Given the description of an element on the screen output the (x, y) to click on. 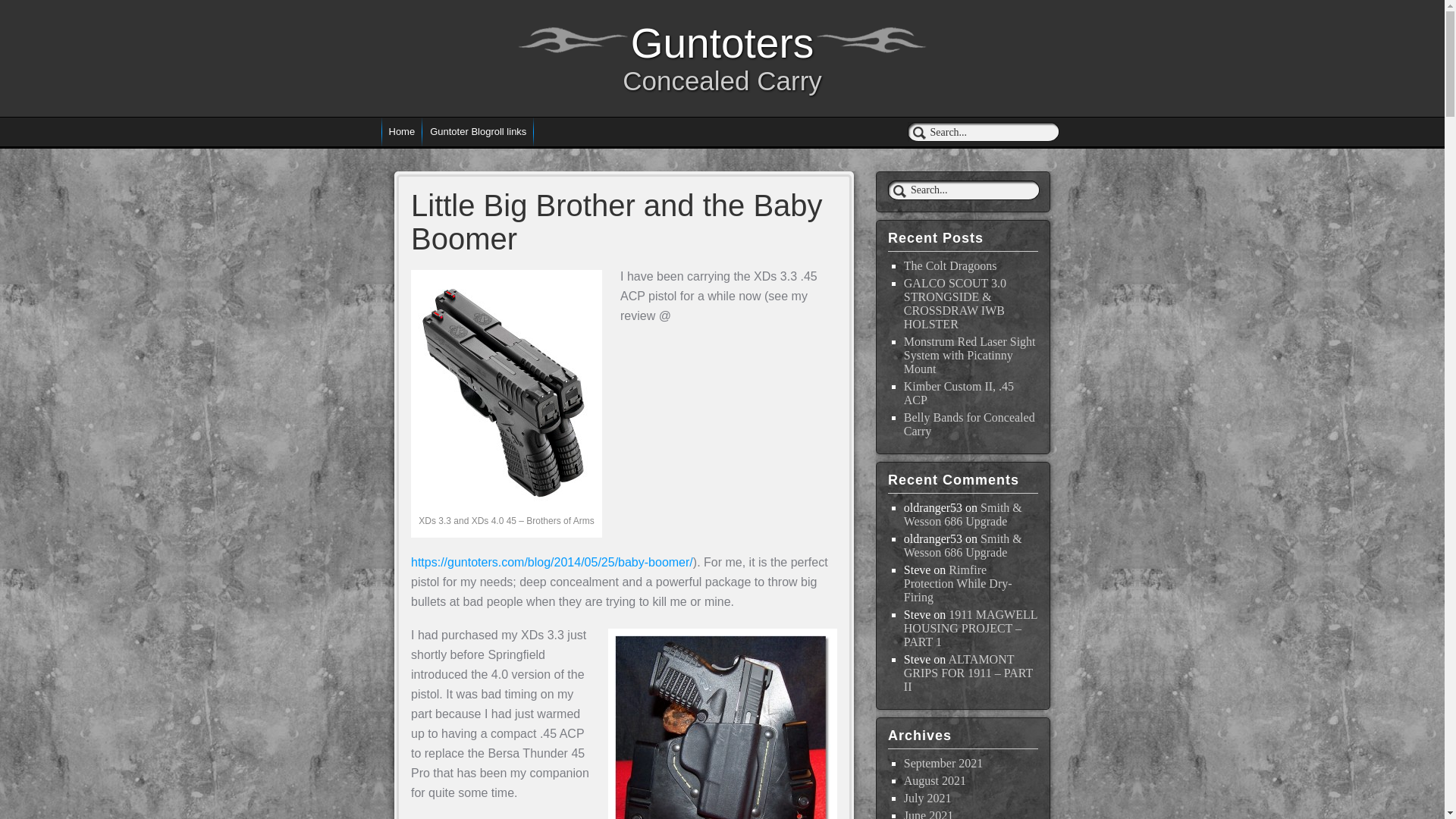
Rimfire Protection While Dry-Firing (957, 582)
Belly Bands for Concealed Carry (969, 424)
Guntoter Blogroll links (478, 131)
Kimber Custom II, .45 ACP (958, 392)
Monstrum Red Laser Sight System with Picatinny Mount (969, 354)
Search (21, 7)
The Colt Dragoons (950, 265)
Guntoters (721, 42)
Search... (963, 189)
Home (401, 131)
